Given the description of an element on the screen output the (x, y) to click on. 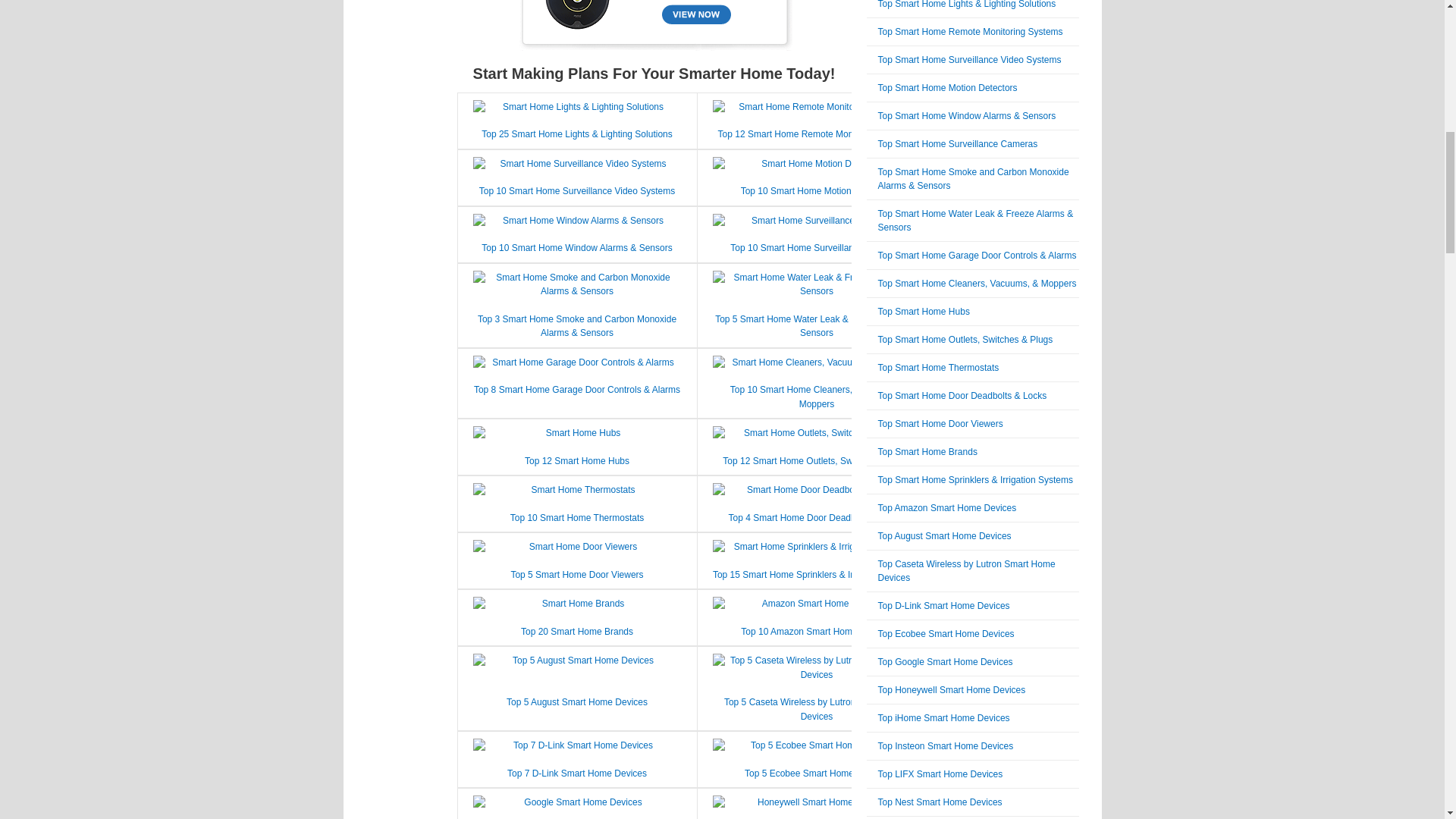
Top 12 Smart Home Remote Monitoring Systems (816, 133)
Top 10 Smart Home Thermostats (578, 517)
Top 10 Smart Home Surveillance Cameras (816, 247)
Top 12 Smart Home Hubs (576, 460)
Top 10 Smart Home Motion Detectors (817, 190)
Top 10 Smart Home Surveillance Video Systems (577, 190)
